Given the description of an element on the screen output the (x, y) to click on. 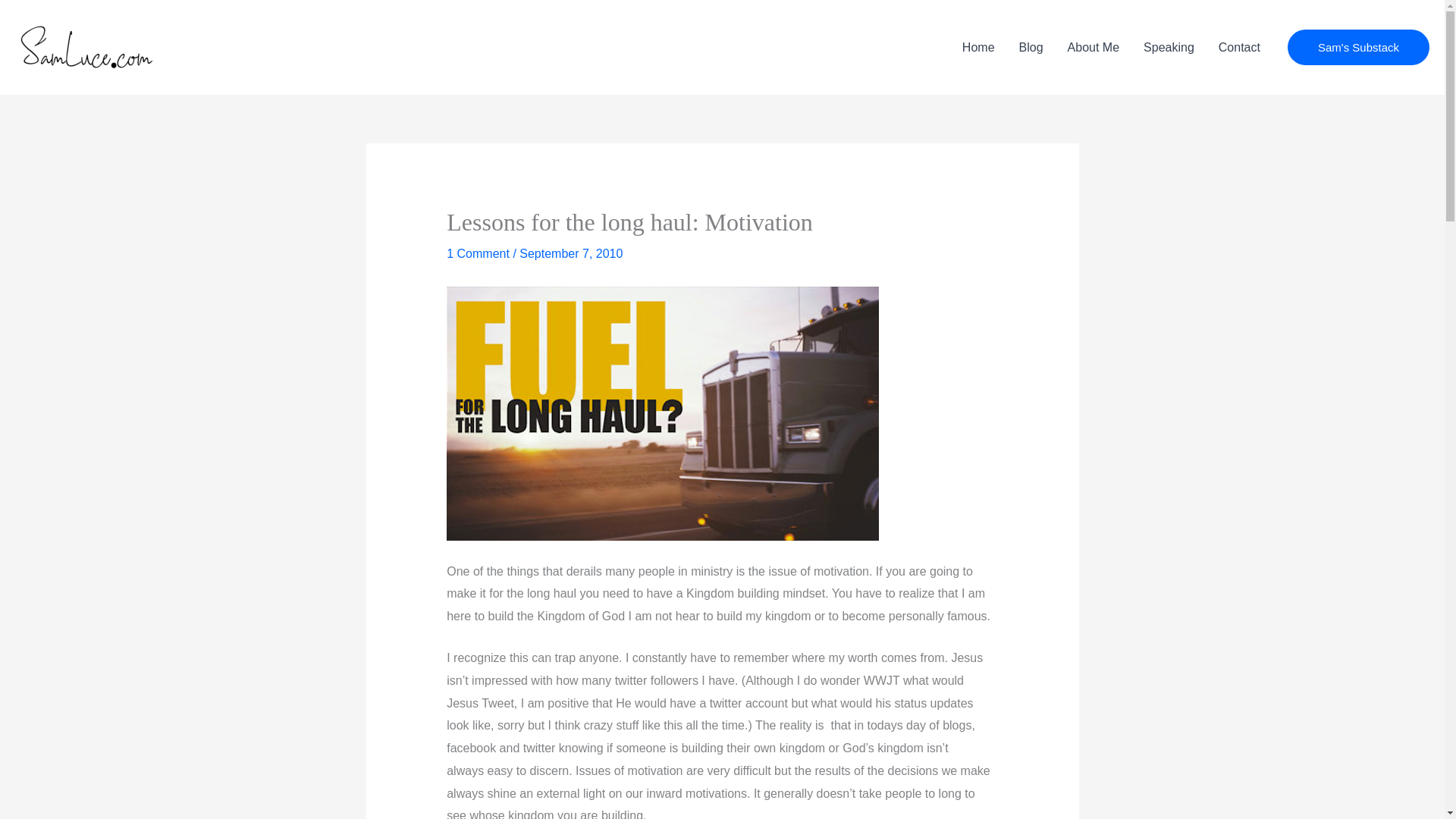
Contact (1239, 47)
Blog (1031, 47)
About Me (1093, 47)
Speaking (1169, 47)
Screen shot 2010-09-01 at 12.52.06 PM (662, 413)
Home (978, 47)
Sam's Substack (1358, 47)
1 Comment (477, 253)
